Given the description of an element on the screen output the (x, y) to click on. 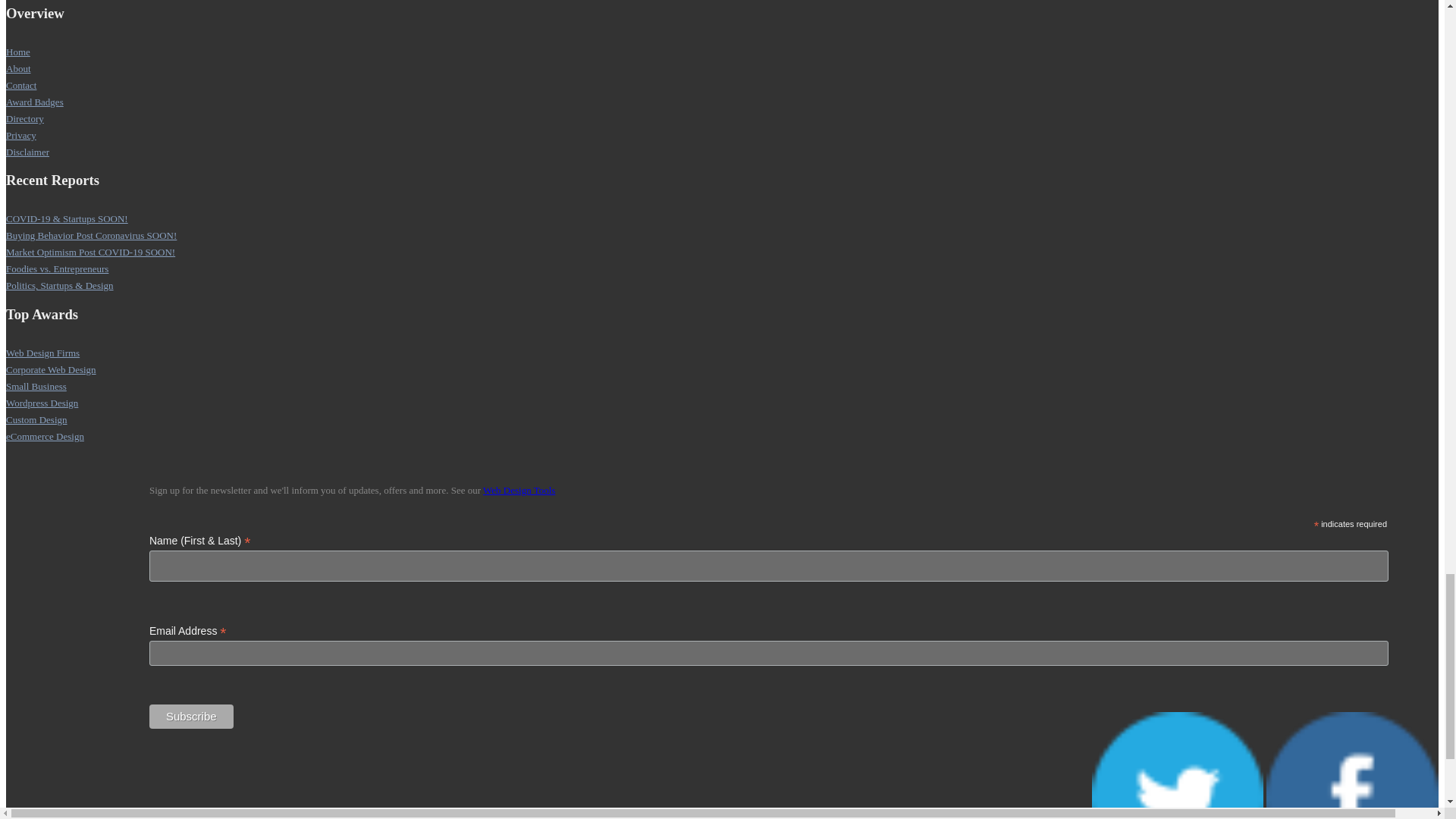
Subscribe (190, 716)
Web Design Tools (518, 490)
